Given the description of an element on the screen output the (x, y) to click on. 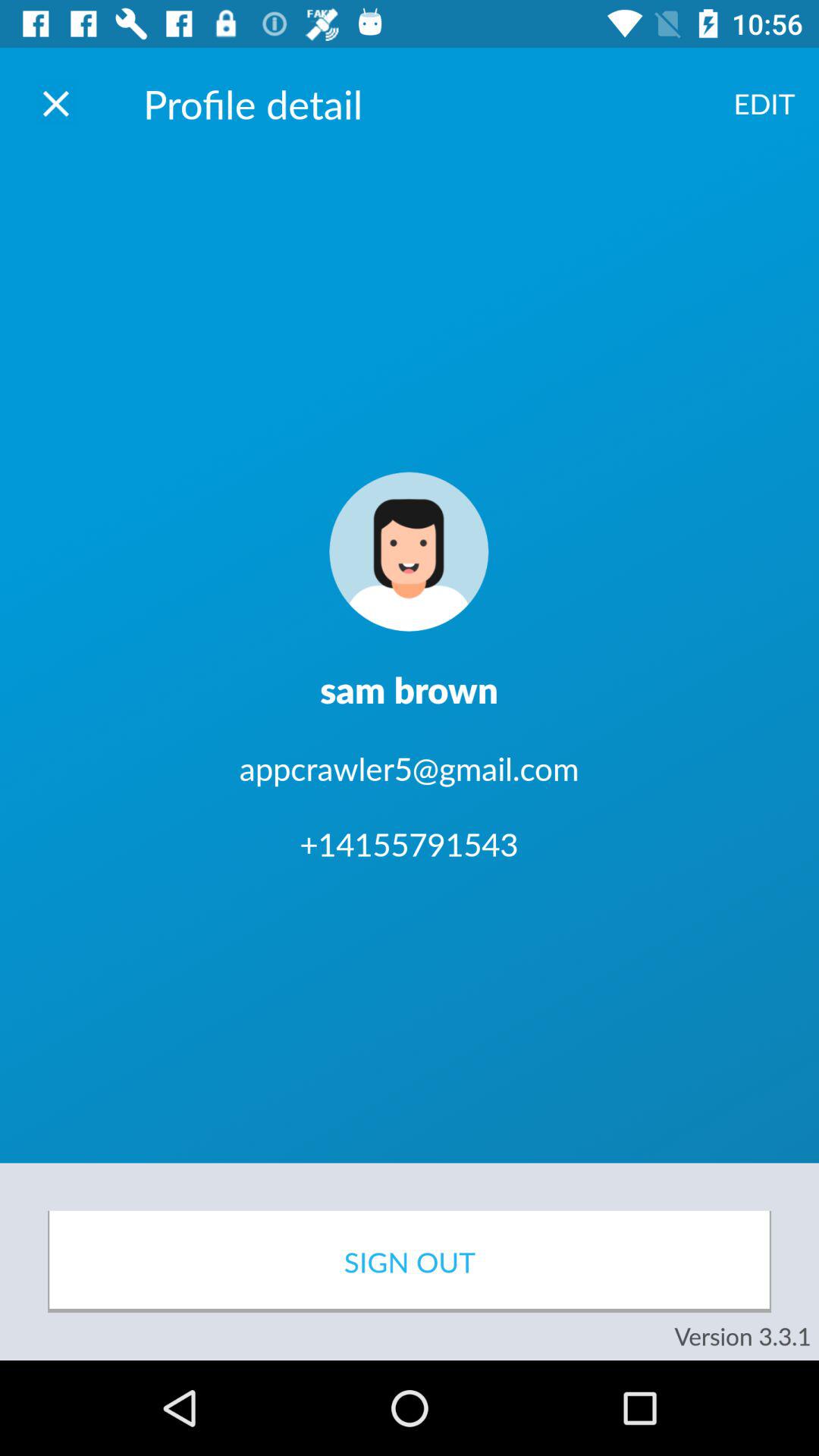
jump to sign out item (409, 1261)
